Given the description of an element on the screen output the (x, y) to click on. 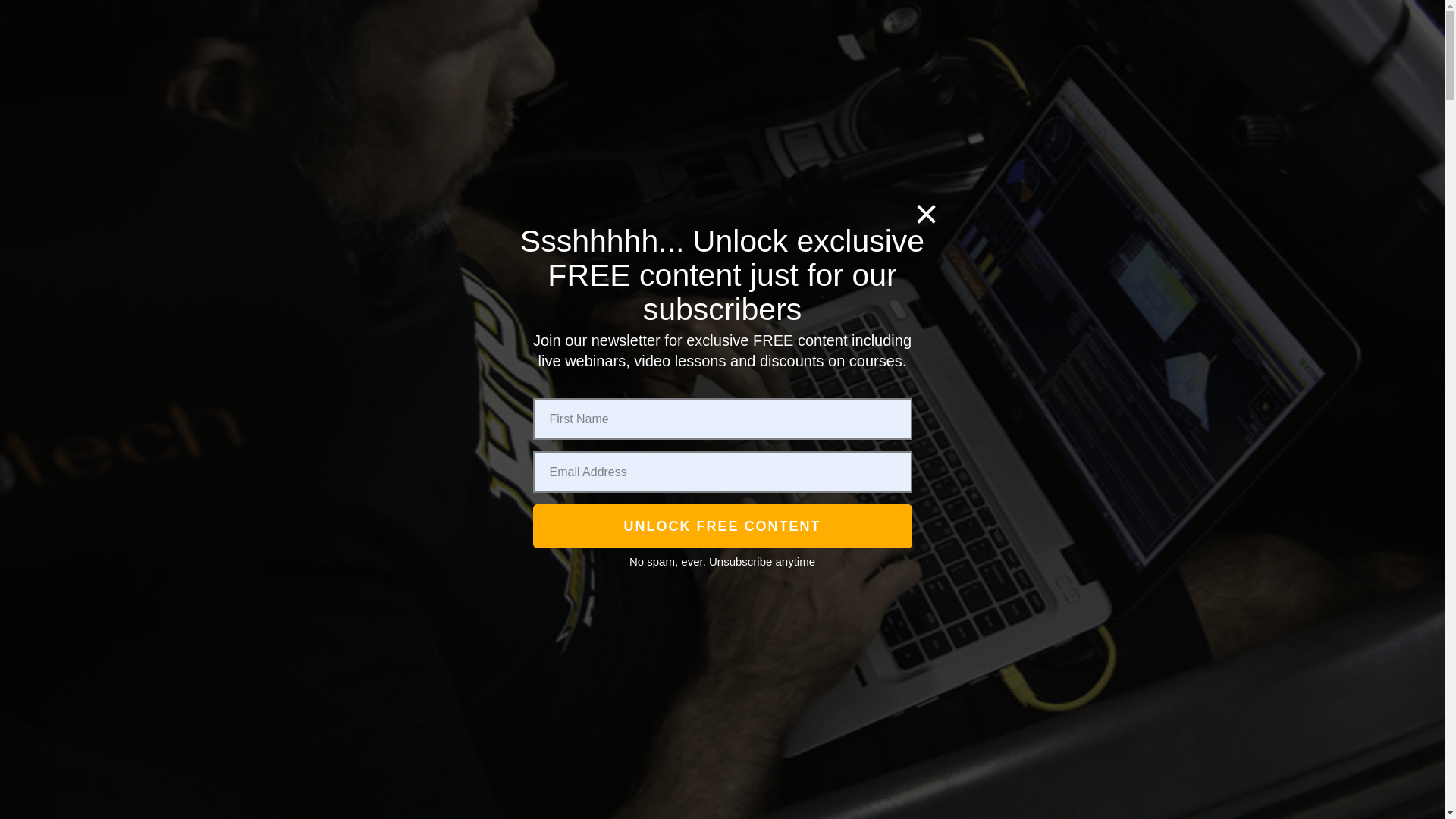
PODCAST (527, 162)
Click here to view NSMK3 (662, 81)
WEBINARS (354, 663)
CONTACT US (893, 162)
COURSES (980, 81)
ABOUT US (427, 160)
HIGH PERFORMANCE ACADEMY (746, 81)
Click here to reply to this topic (359, 156)
FREE LESSONS (314, 584)
FORUM (785, 162)
BLOG (963, 162)
Click here to view NSMK3 (818, 81)
STARTER PACKAGES (355, 730)
MEMBER LOGIN (647, 162)
